Given the description of an element on the screen output the (x, y) to click on. 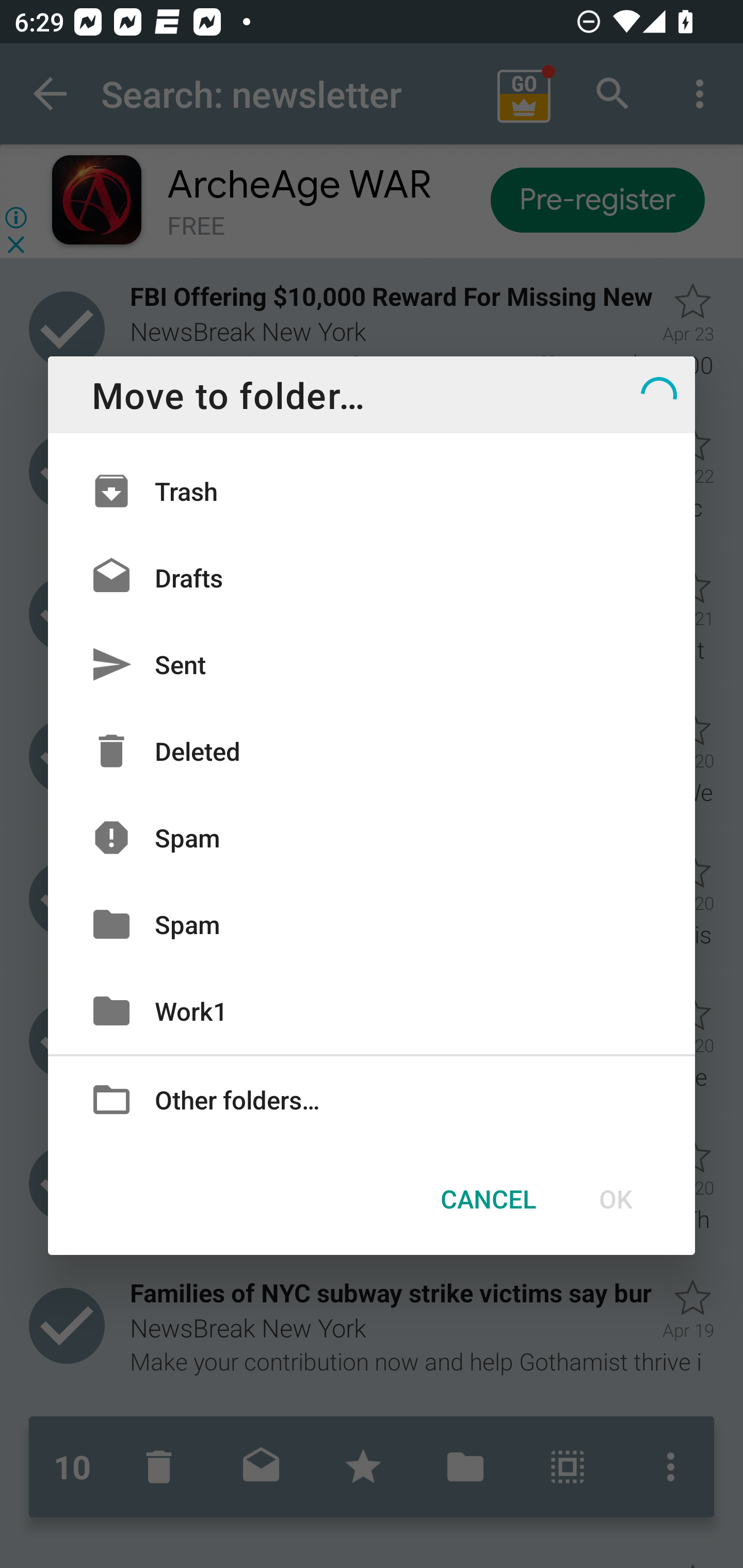
Trash (371, 491)
Drafts (371, 577)
Sent (371, 663)
Deleted (371, 750)
Spam (371, 837)
Spam (371, 924)
Work1 (371, 1010)
Other folders… (371, 1098)
CANCEL (488, 1199)
OK (615, 1199)
